Given the description of an element on the screen output the (x, y) to click on. 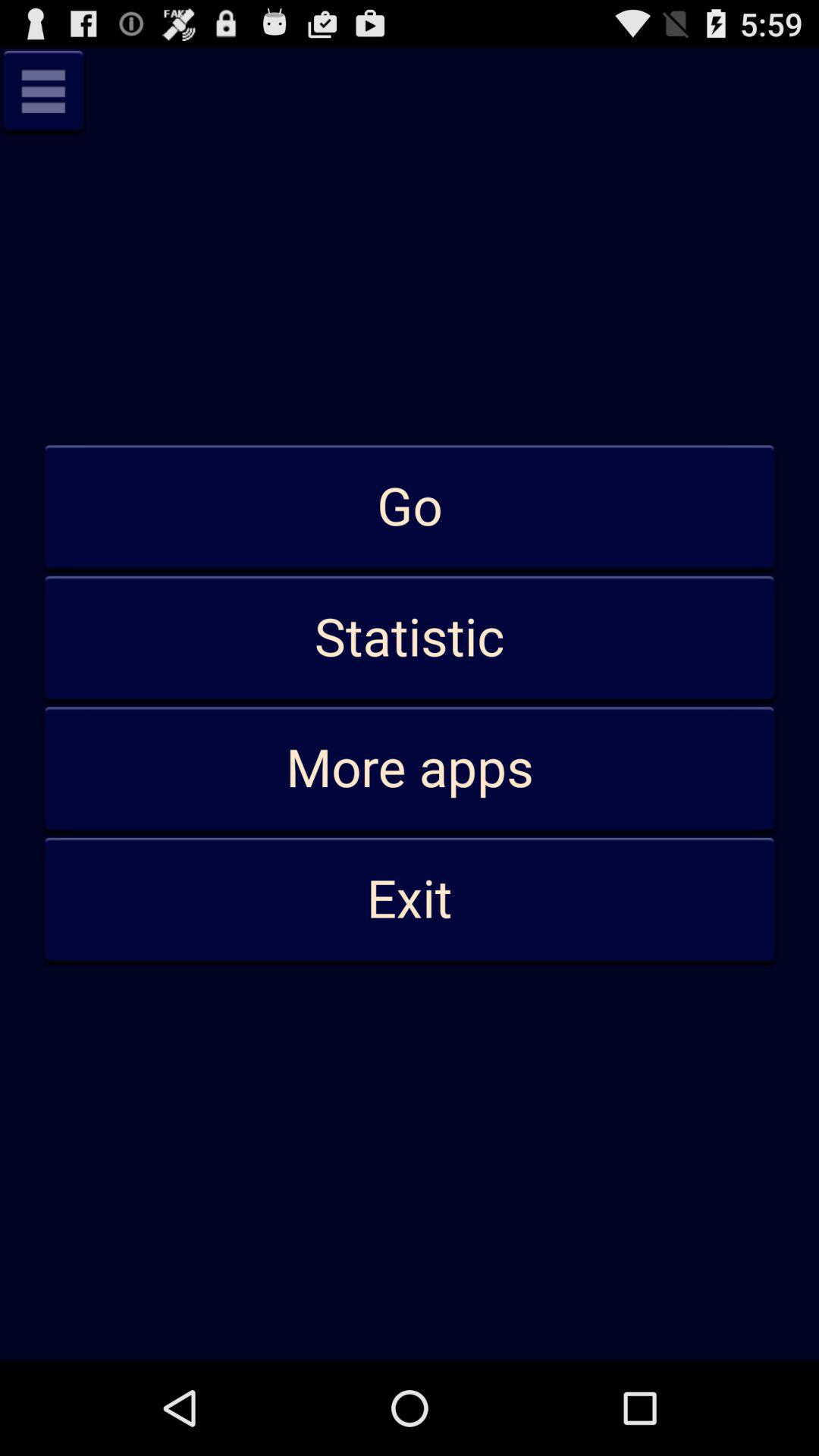
click to menu (43, 90)
